Given the description of an element on the screen output the (x, y) to click on. 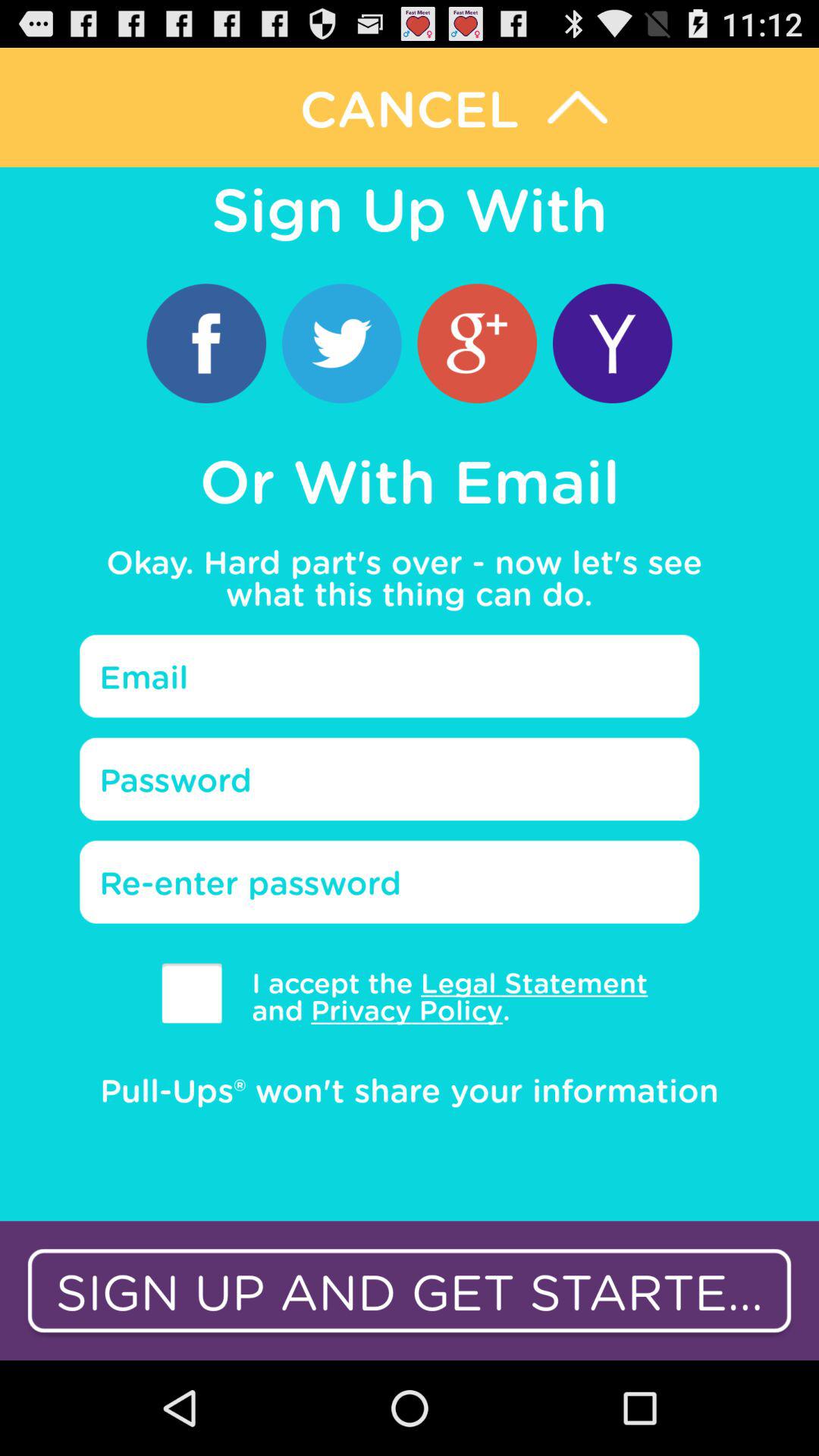
tap icon to the left of the i accept the item (191, 993)
